Given the description of an element on the screen output the (x, y) to click on. 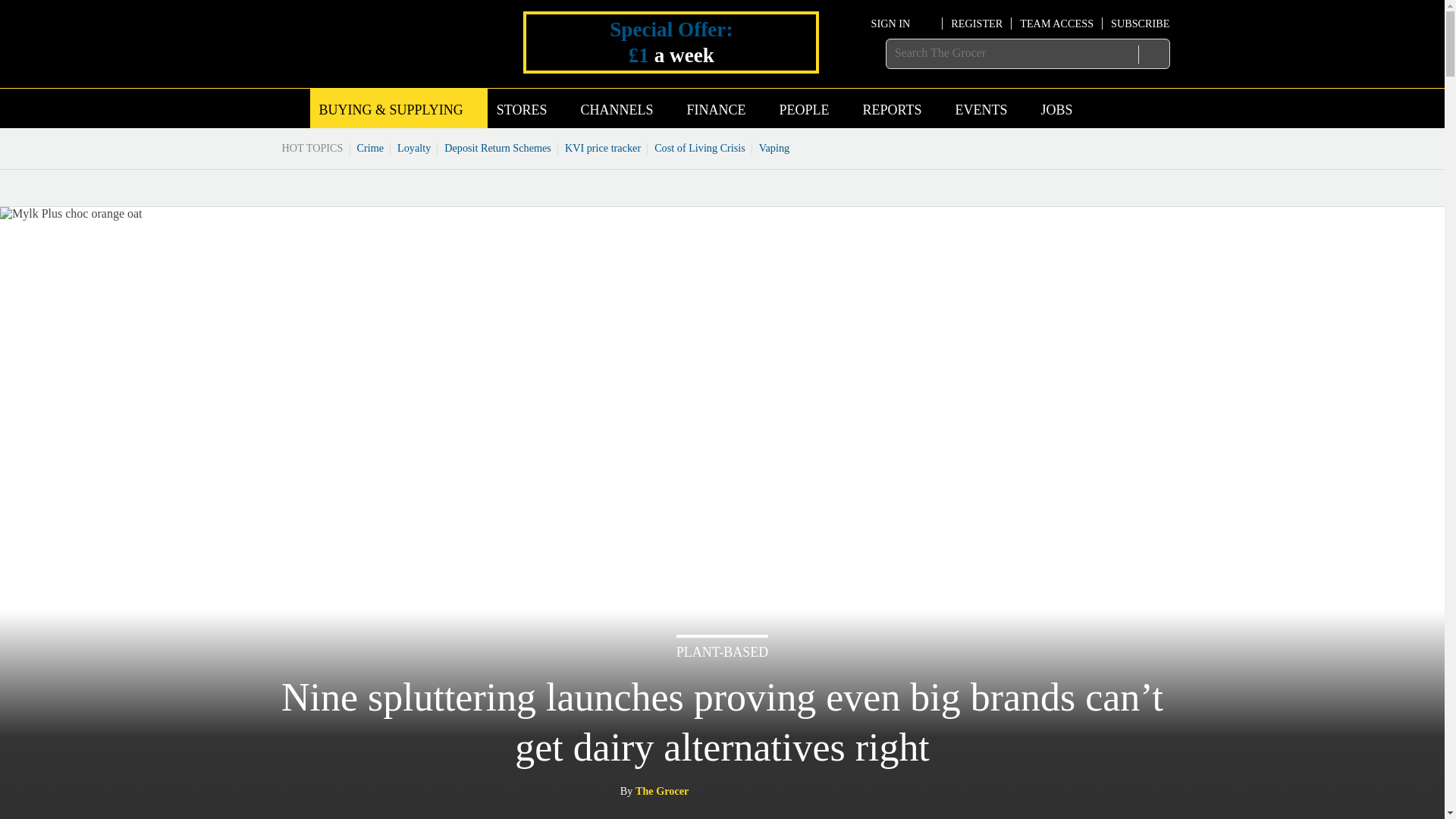
SEARCH (1153, 53)
Loyalty (414, 147)
Deposit Return Schemes (497, 147)
Vaping (774, 147)
SUBSCRIBE (1139, 23)
KVI price tracker (602, 147)
Cost of Living Crisis (699, 147)
REGISTER (976, 23)
Crime (370, 147)
SIGN IN (902, 23)
